Given the description of an element on the screen output the (x, y) to click on. 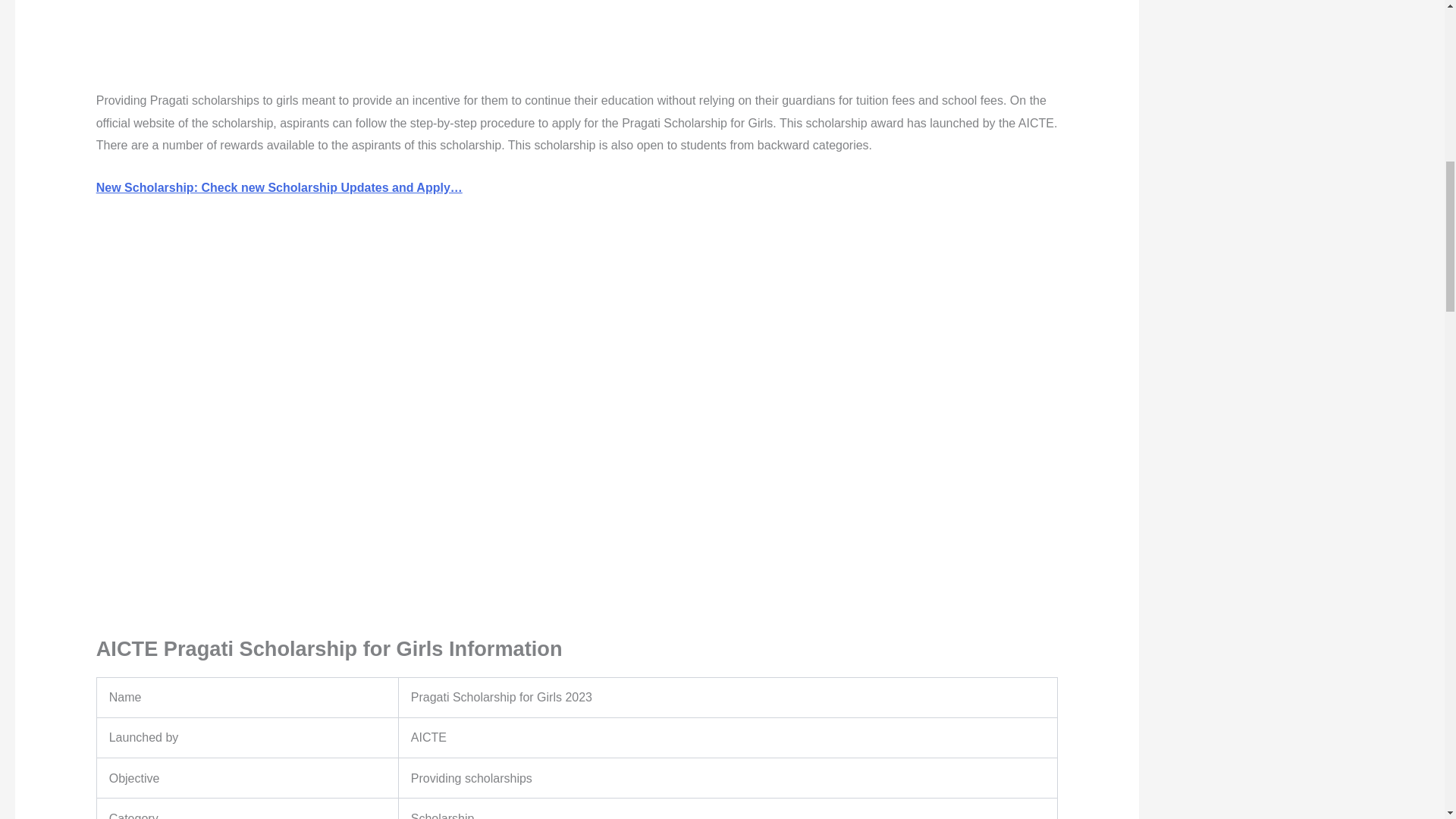
Advertisement (576, 41)
